Given the description of an element on the screen output the (x, y) to click on. 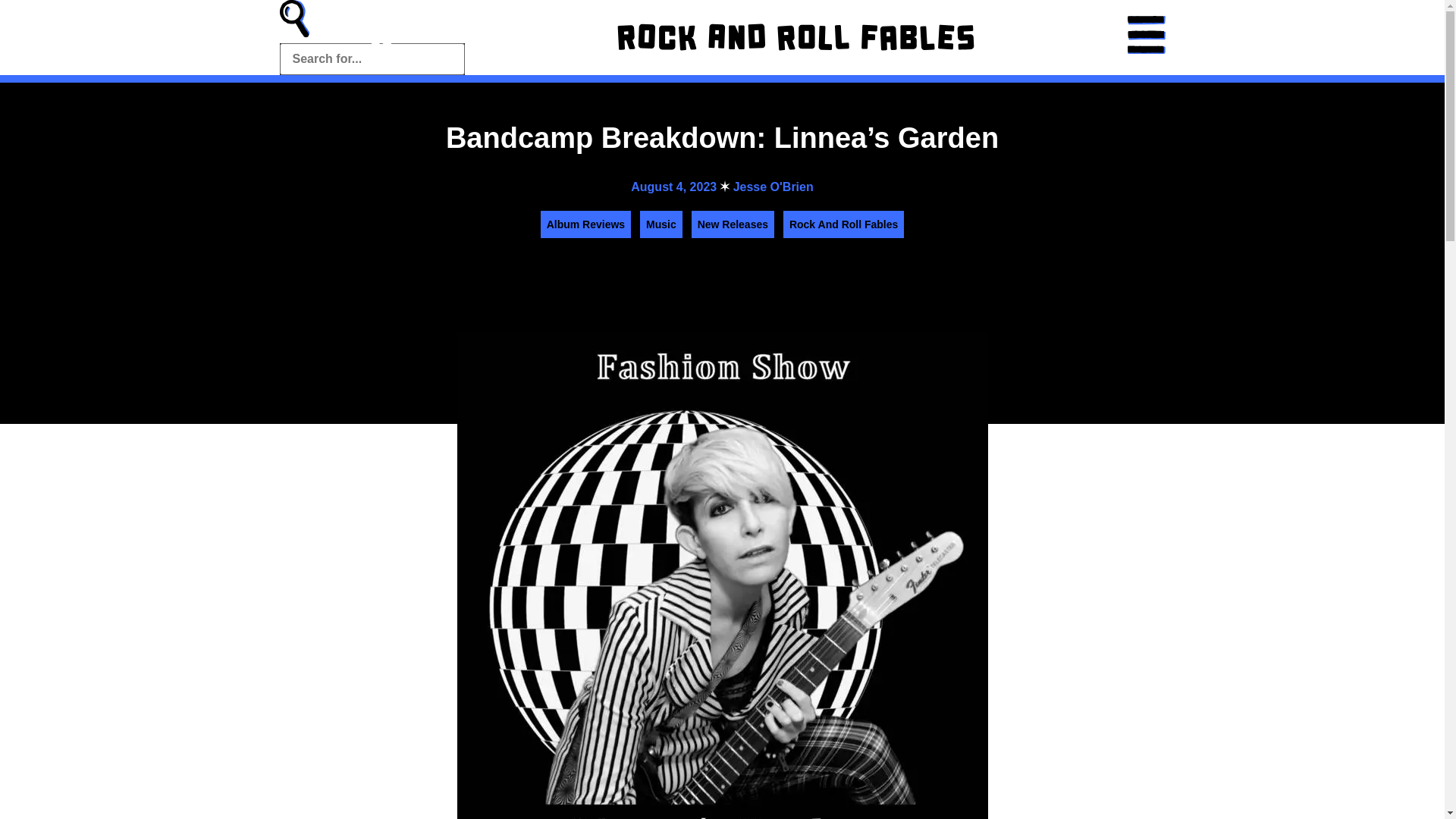
Rock And Roll Fables (843, 224)
Music (661, 224)
Album Reviews (585, 224)
New Releases (732, 224)
